Given the description of an element on the screen output the (x, y) to click on. 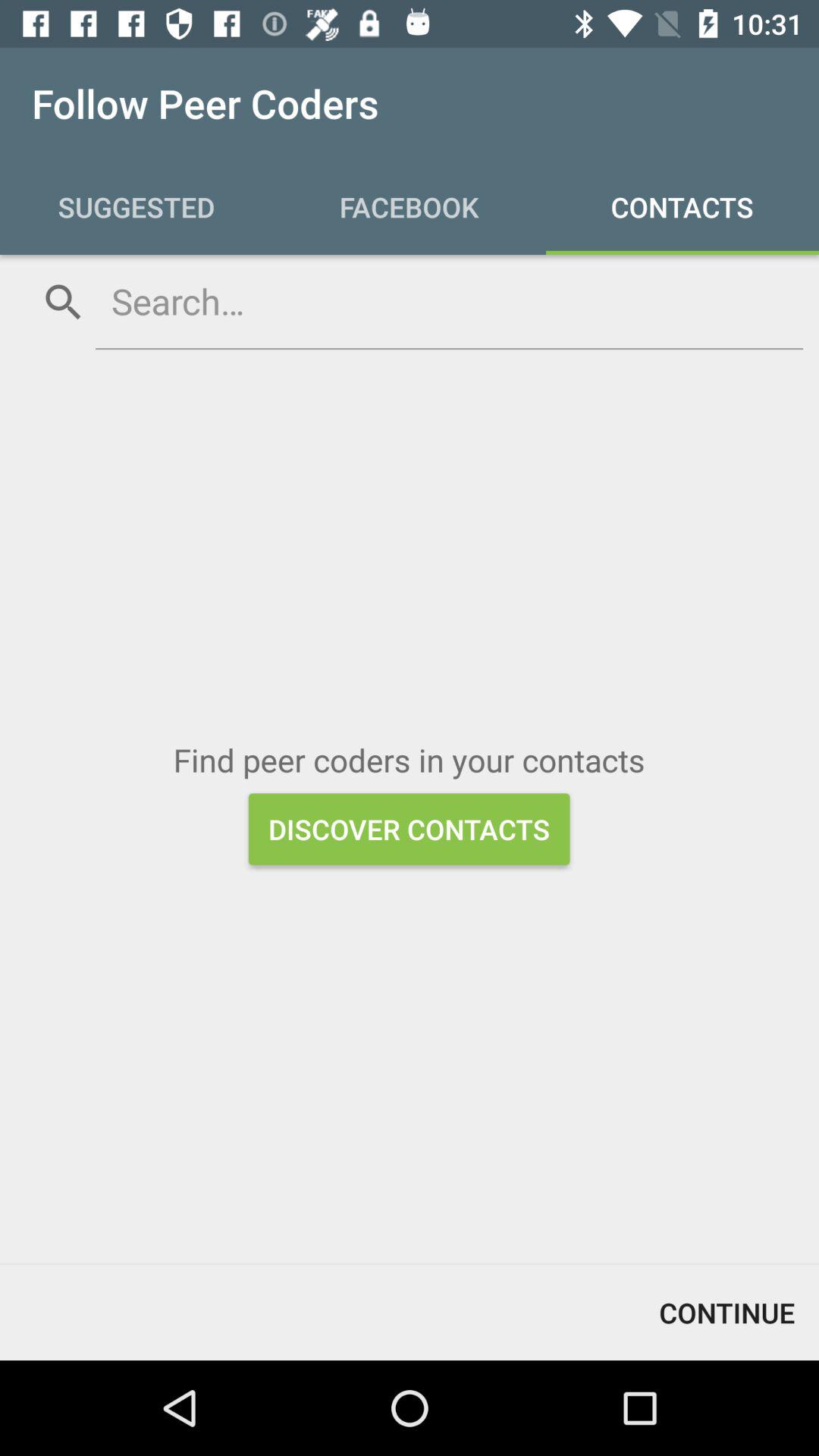
searcb here (449, 301)
